Given the description of an element on the screen output the (x, y) to click on. 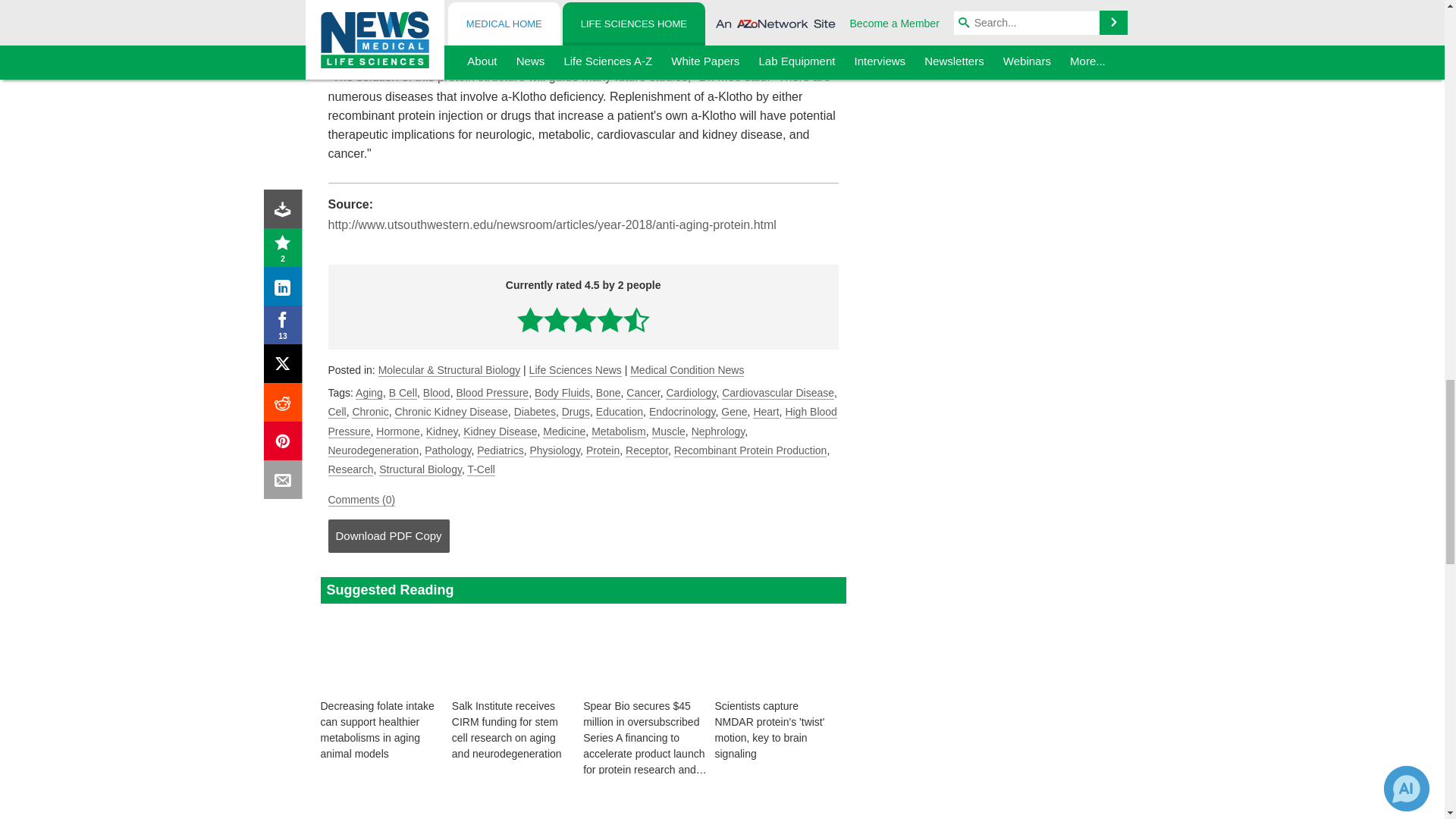
Rate this 5 stars out of 5 (636, 319)
Rate this 4 stars out of 5 (609, 319)
